Given the description of an element on the screen output the (x, y) to click on. 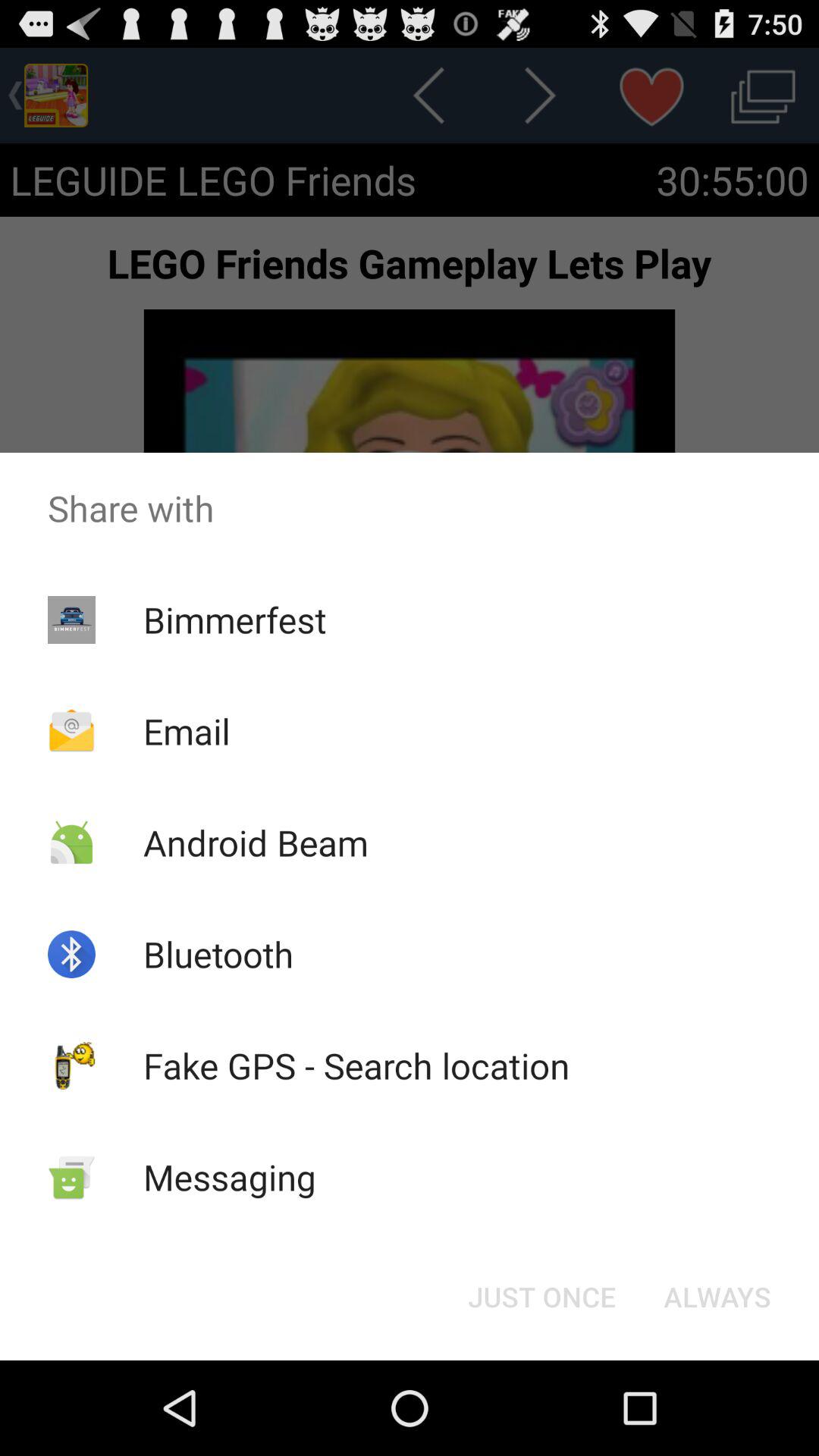
turn off the fake gps search (356, 1065)
